Given the description of an element on the screen output the (x, y) to click on. 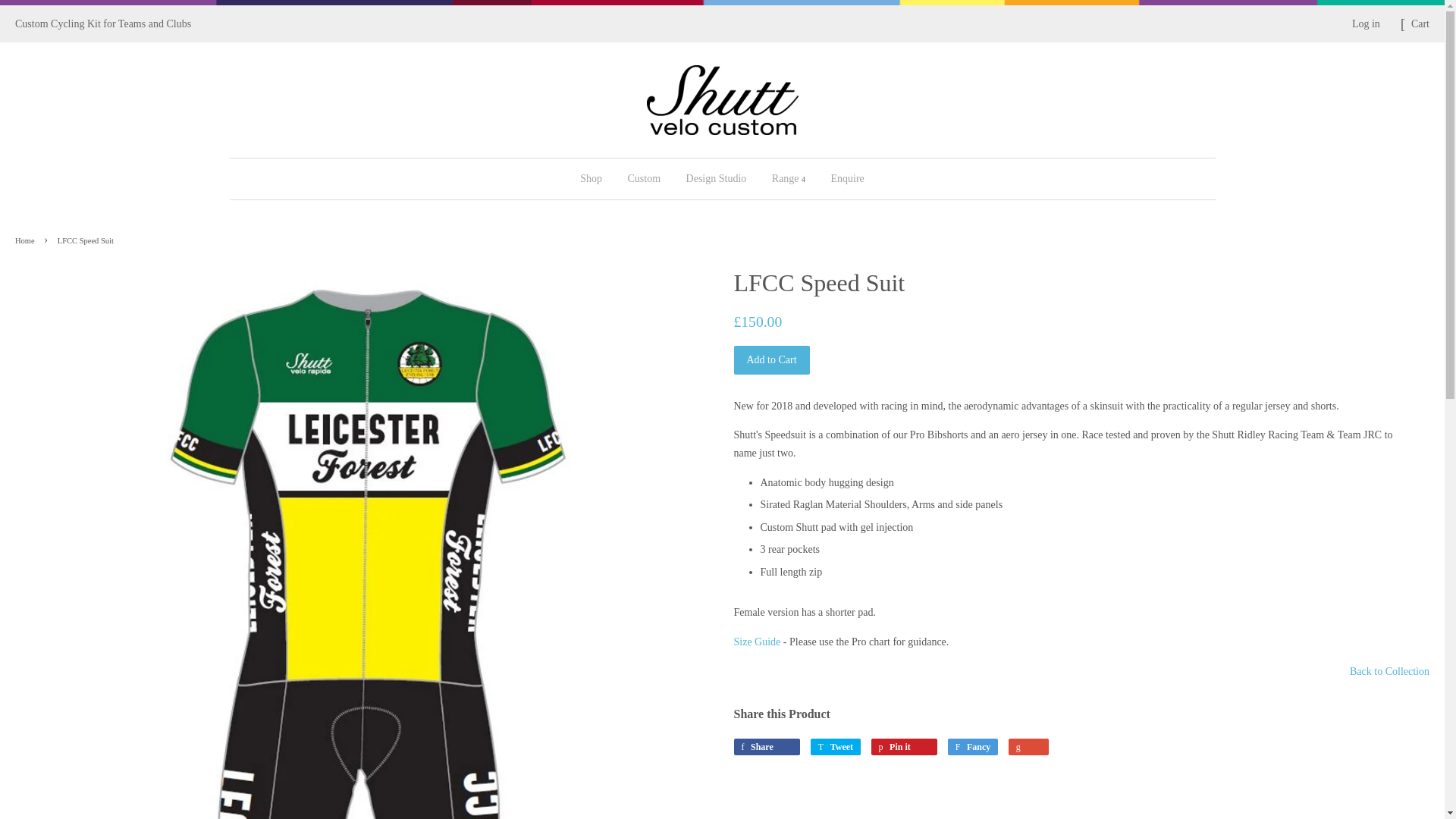
Add to Cart (771, 359)
Custom (643, 178)
Fancy (972, 746)
Home (26, 240)
Pin it (903, 746)
Back to Collection (1389, 671)
Design Studio (716, 178)
Enquire (840, 178)
Share (766, 746)
Tweet (835, 746)
